Given the description of an element on the screen output the (x, y) to click on. 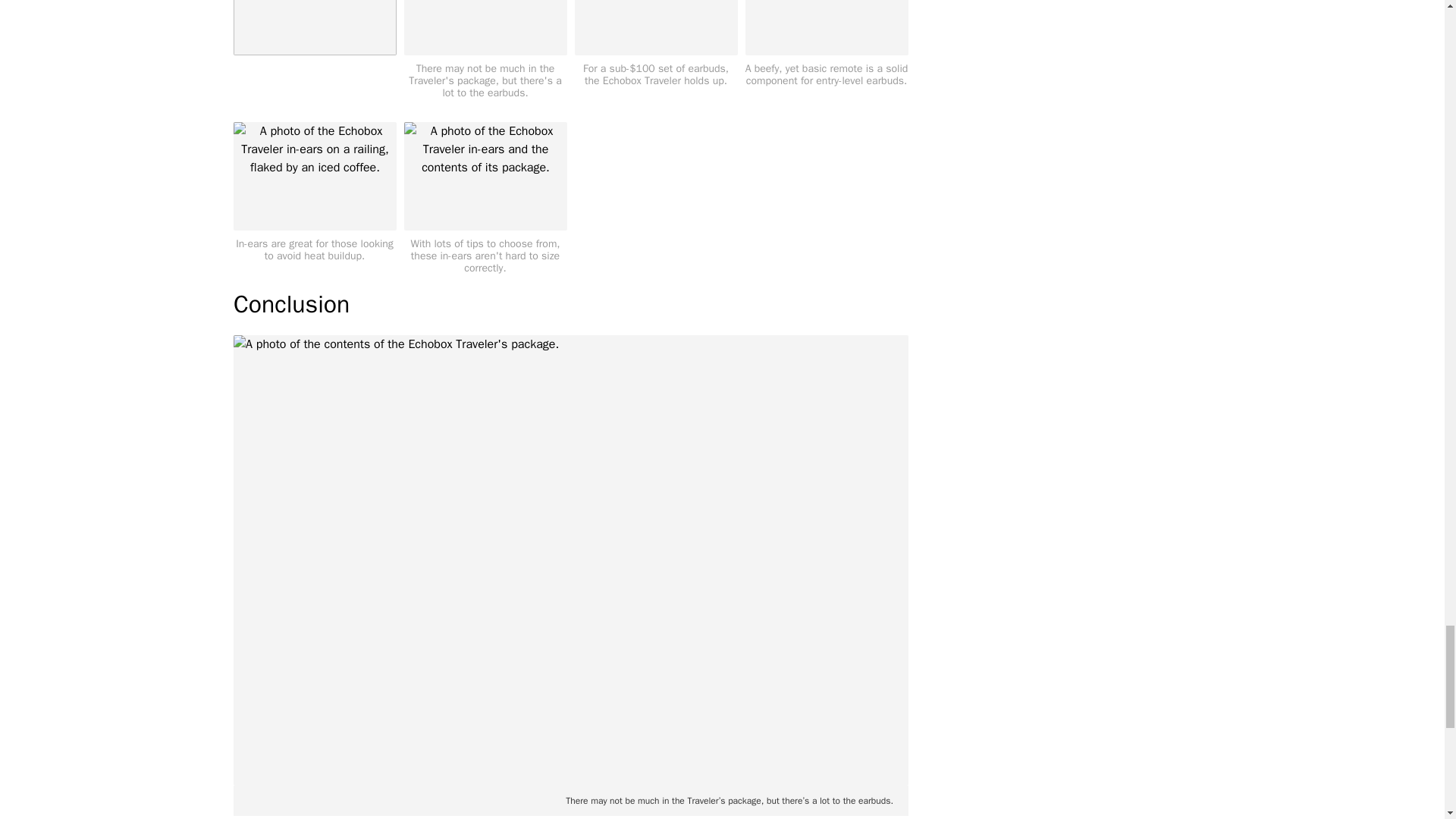
Traveler02 (825, 27)
In-ears are great for those looking to avoid heat buildup. (314, 192)
Traveler04 (314, 27)
Traveler01 (484, 27)
Traveler06 (484, 176)
Traveler05 (656, 27)
Traveler03 (314, 176)
